Given the description of an element on the screen output the (x, y) to click on. 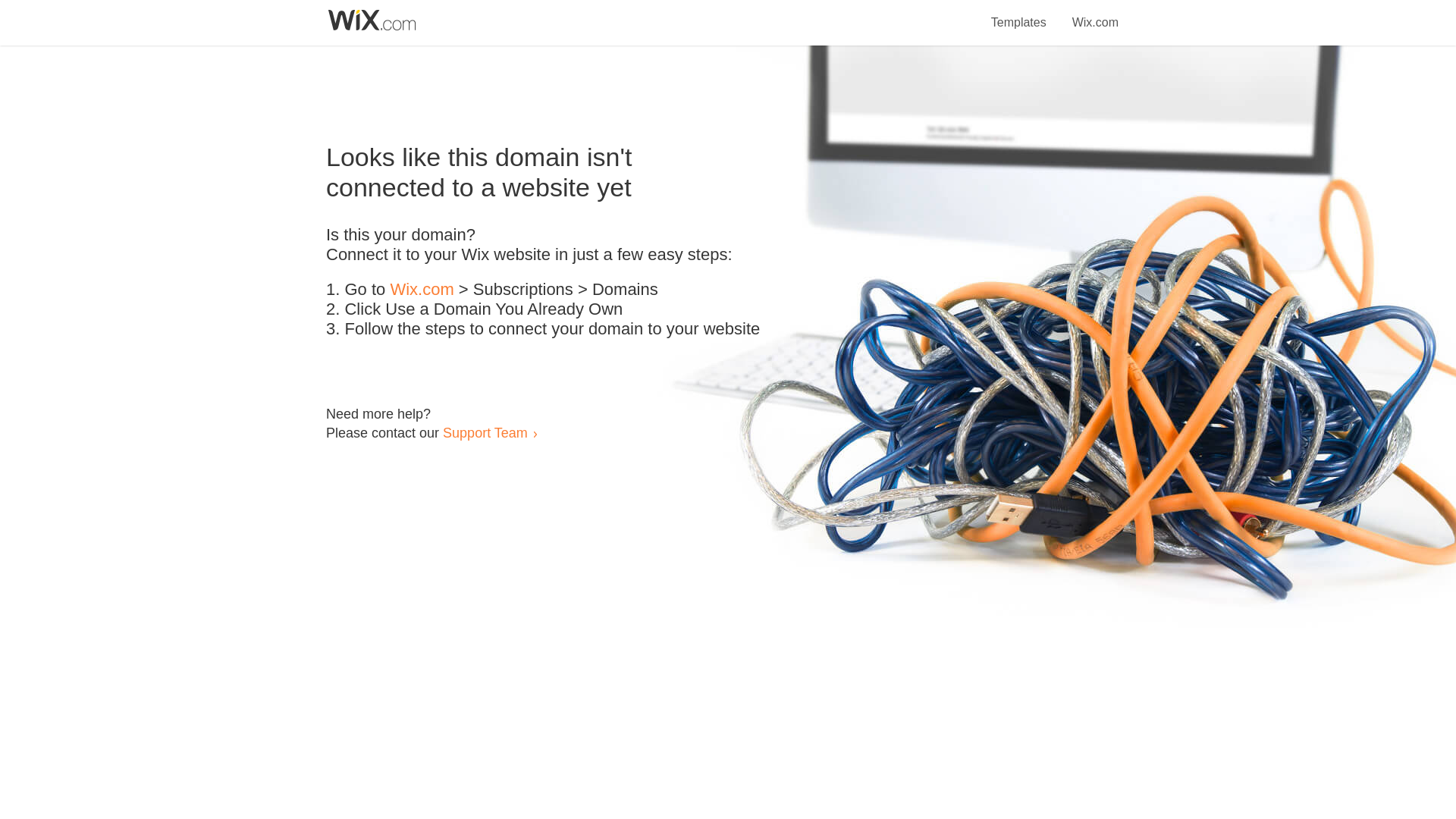
Templates (1018, 14)
Wix.com (1095, 14)
Support Team (484, 432)
Wix.com (421, 289)
